Given the description of an element on the screen output the (x, y) to click on. 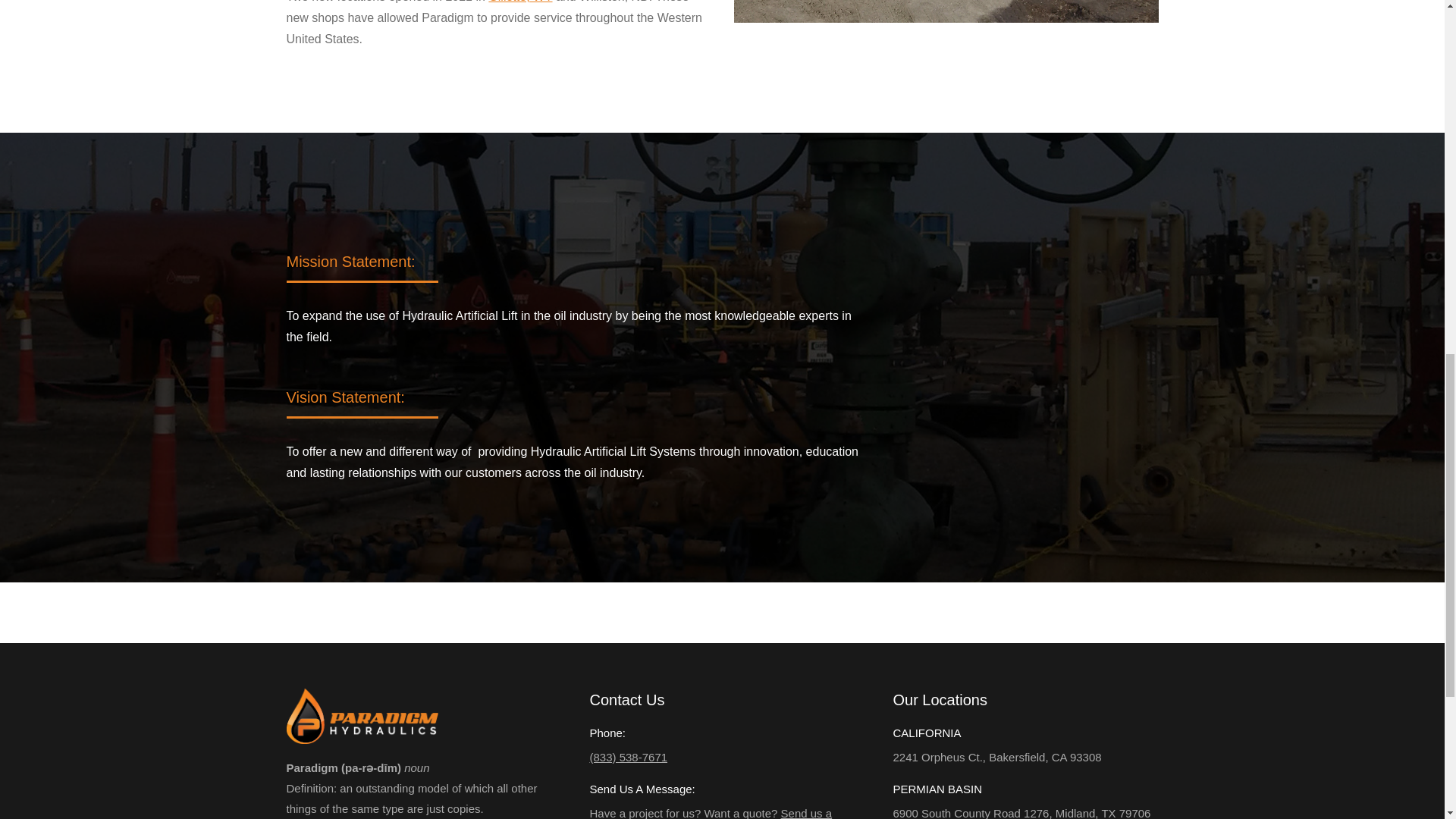
Send us a message through our contact page. (710, 812)
A Paradigm Hydraulics artificial lift 5 phase trailer (945, 11)
Gillette, WY (519, 1)
